Given the description of an element on the screen output the (x, y) to click on. 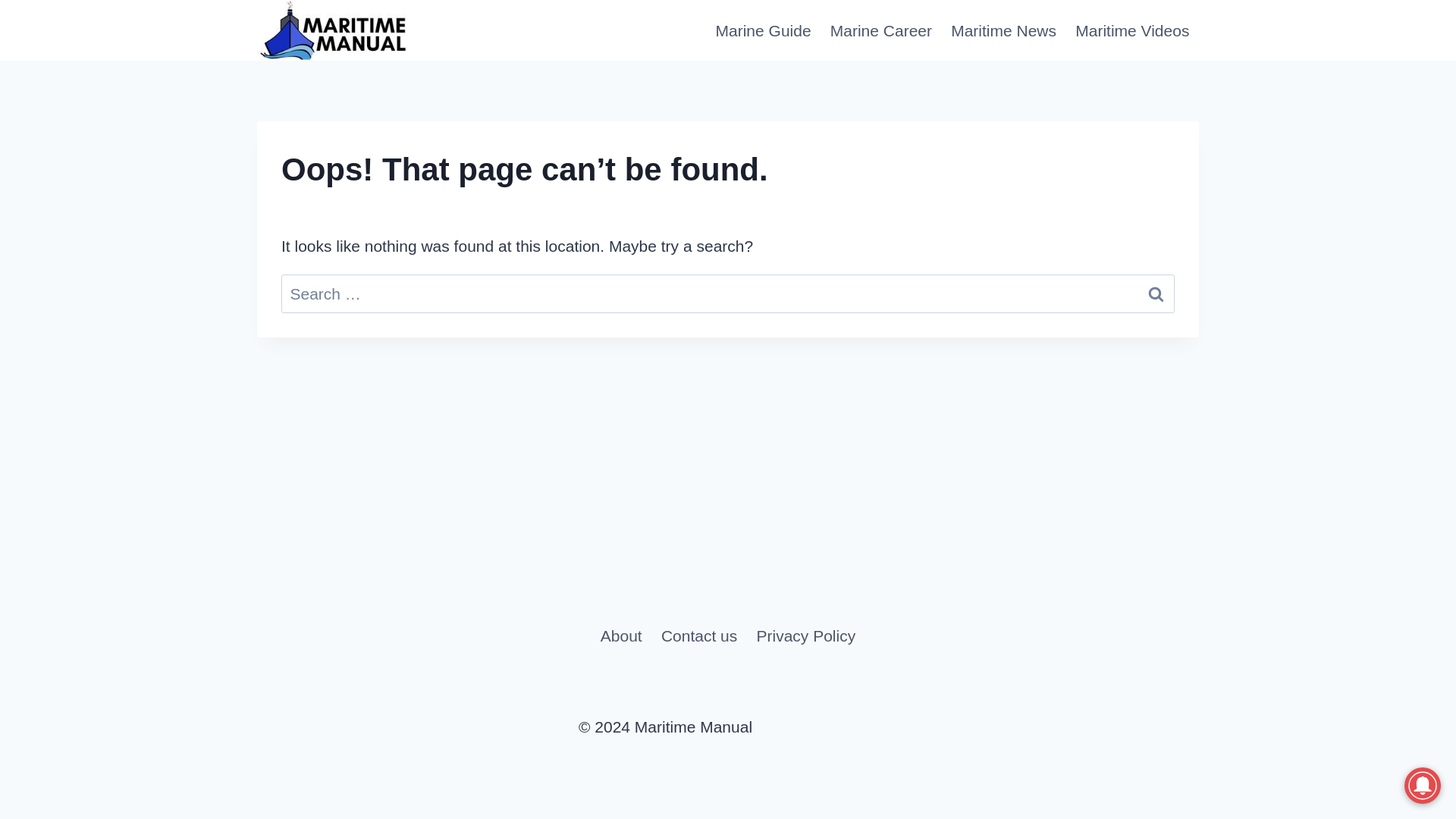
Marine Career (880, 30)
Maritime News (1003, 30)
Marine Guide (763, 30)
Contact us (698, 635)
Maritime Videos (1131, 30)
Search (1155, 293)
Search (1155, 293)
About (620, 635)
Search (1155, 293)
Privacy Policy (805, 635)
